Given the description of an element on the screen output the (x, y) to click on. 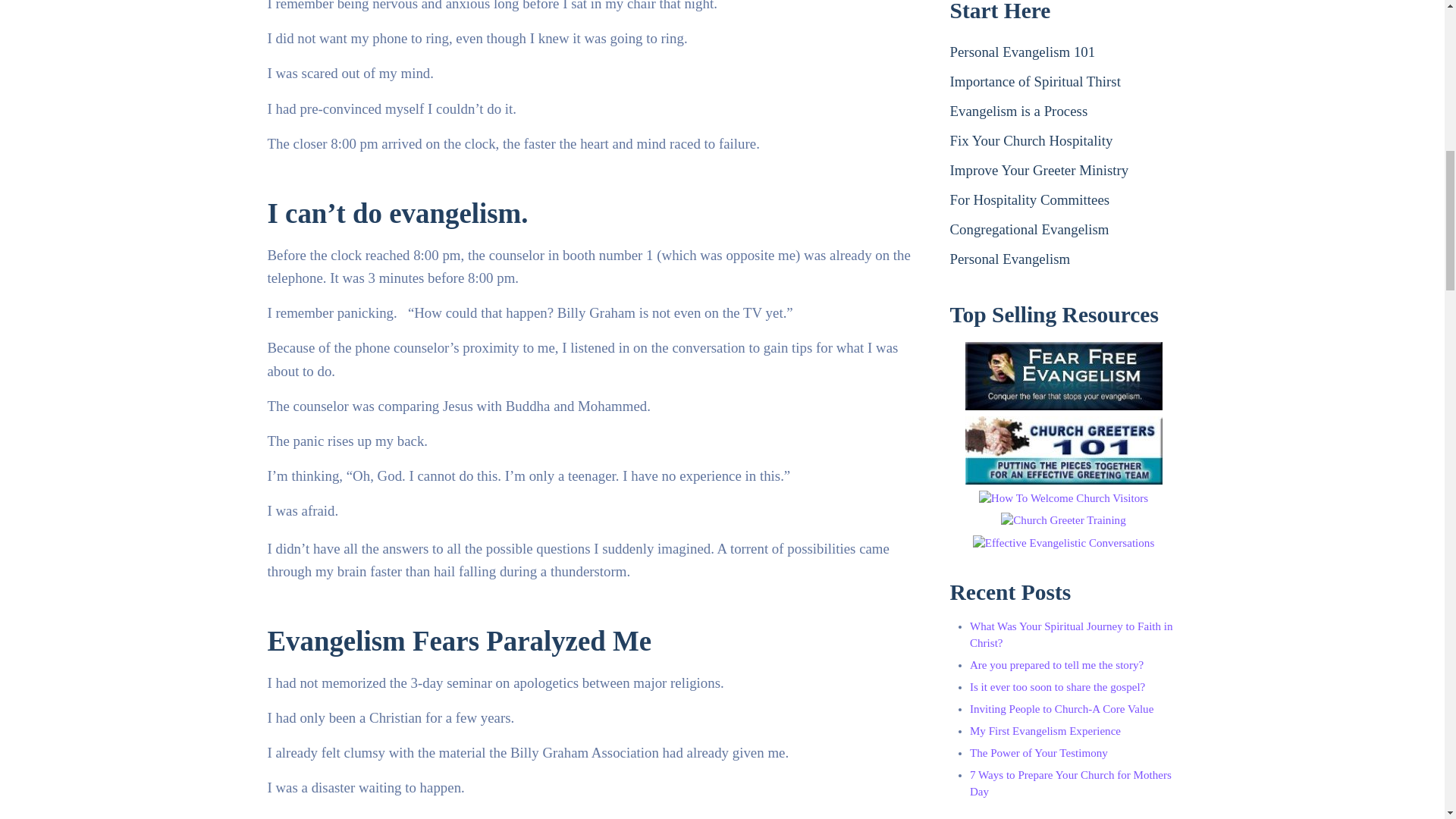
Church Greeters 101 (1062, 450)
Church Greeter Training (1063, 520)
Effective Evangelistic Conversations (1063, 543)
Fear Free Evangelism (1062, 376)
How To Welcome Church Visitors (1063, 498)
